Given the description of an element on the screen output the (x, y) to click on. 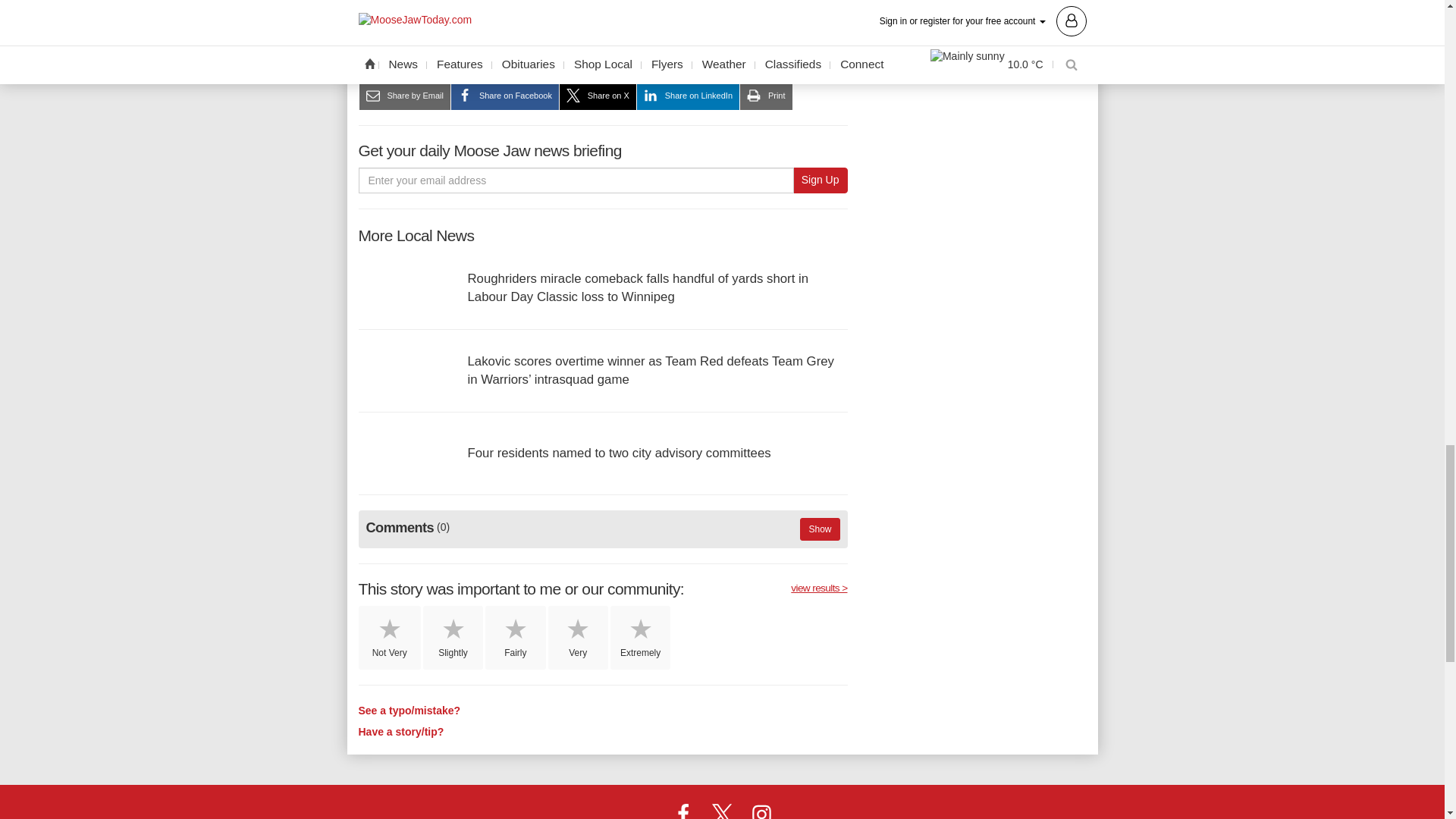
Instagram (760, 814)
Facebook (683, 814)
X (721, 814)
